Given the description of an element on the screen output the (x, y) to click on. 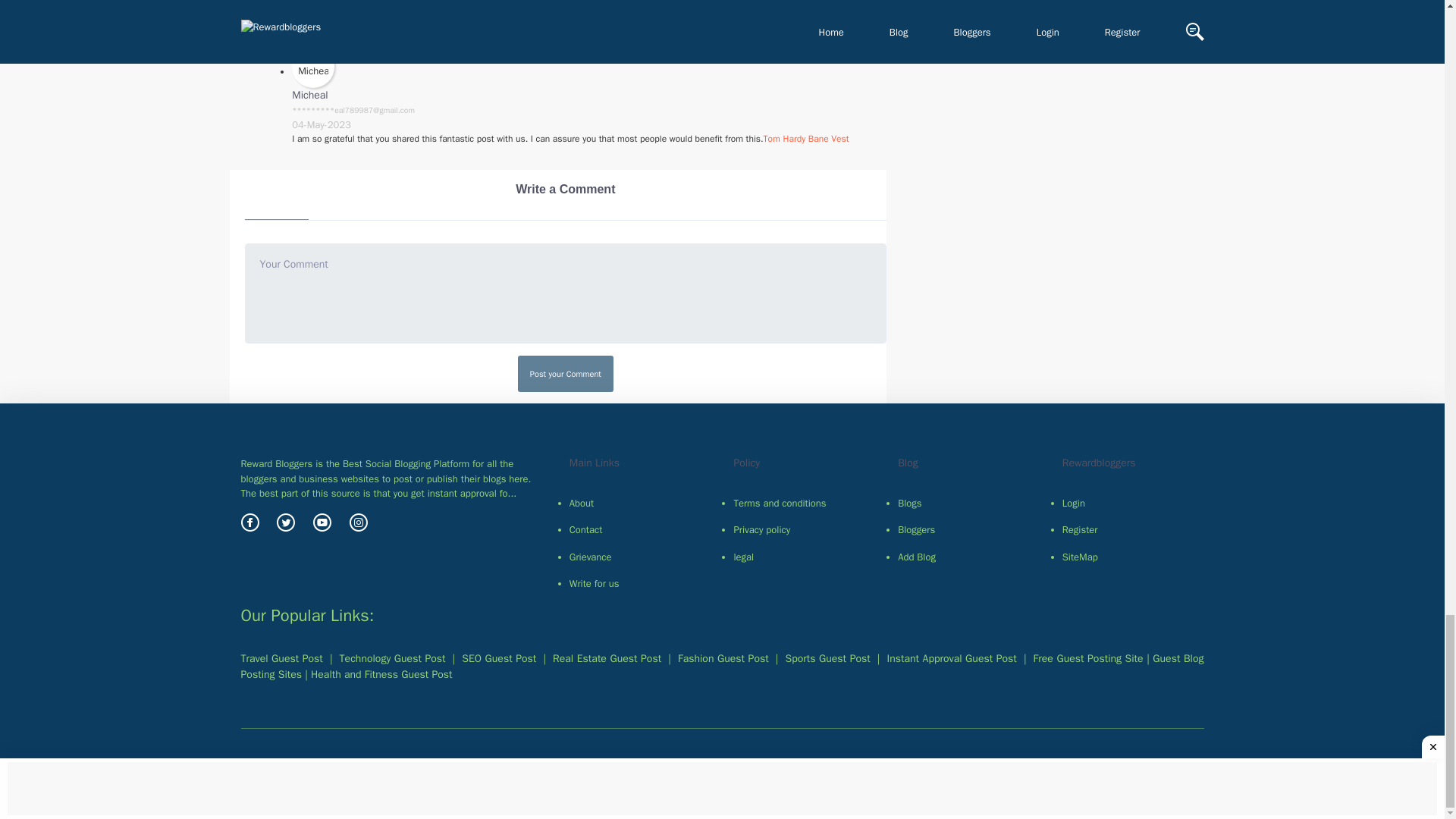
Instant Approval Guest Post (381, 674)
Free Guest Posting Site (1087, 658)
Omegle online (458, 26)
About (640, 502)
SEO Guest Post (498, 658)
Sports Guest Post (828, 658)
Travel Guest Post (282, 658)
Instant Approval Guest Post (951, 658)
Real Estate Guest Post (607, 658)
Technology Guest Post (392, 658)
